Given the description of an element on the screen output the (x, y) to click on. 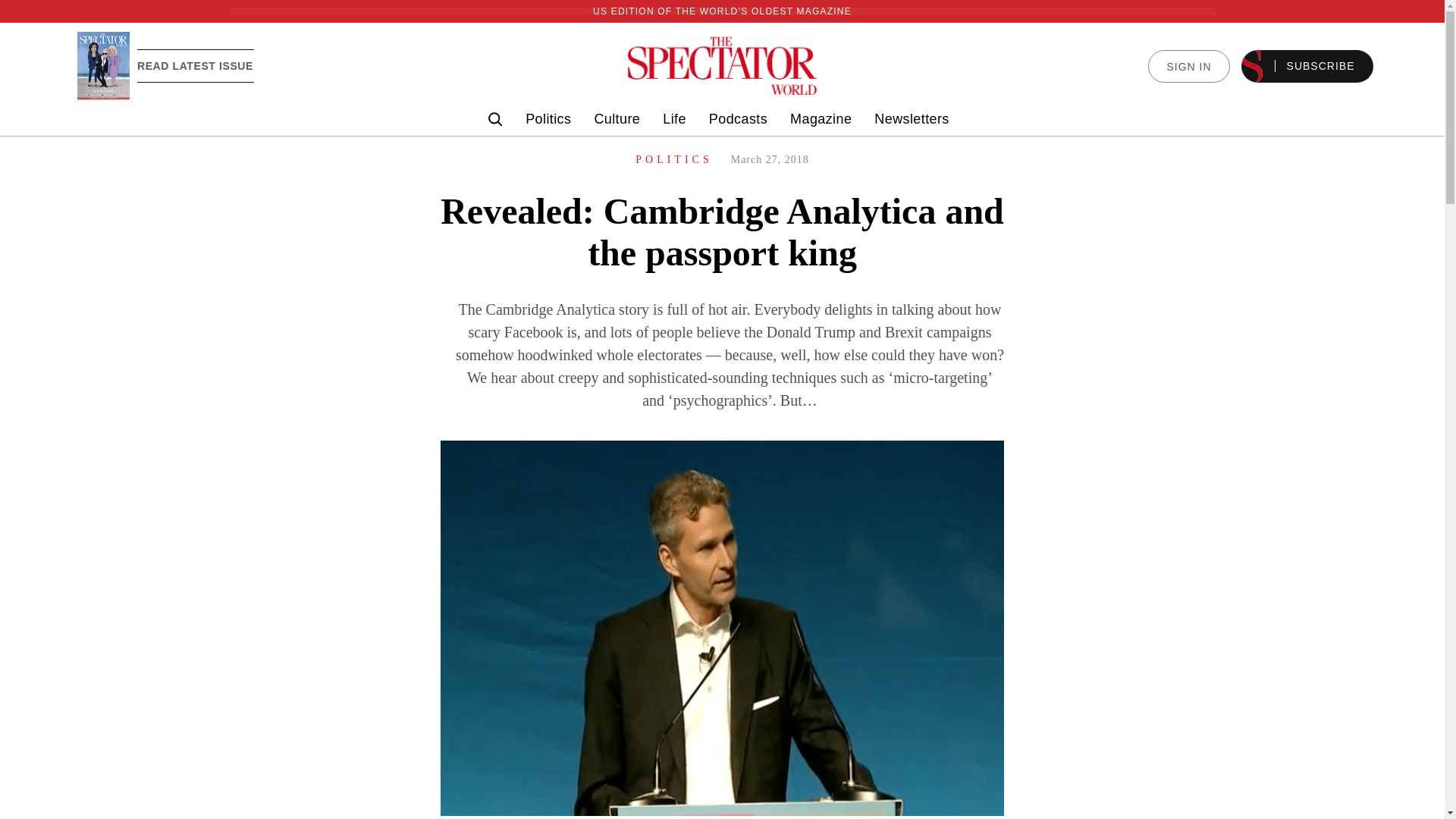
Podcasts (737, 119)
Culture (616, 119)
Politics (547, 119)
Magazine (820, 119)
Newsletters (911, 119)
SUBSCRIBE (1307, 65)
READ LATEST ISSUE (194, 65)
POLITICS (672, 159)
SIGN IN (1188, 65)
Life (673, 119)
